Given the description of an element on the screen output the (x, y) to click on. 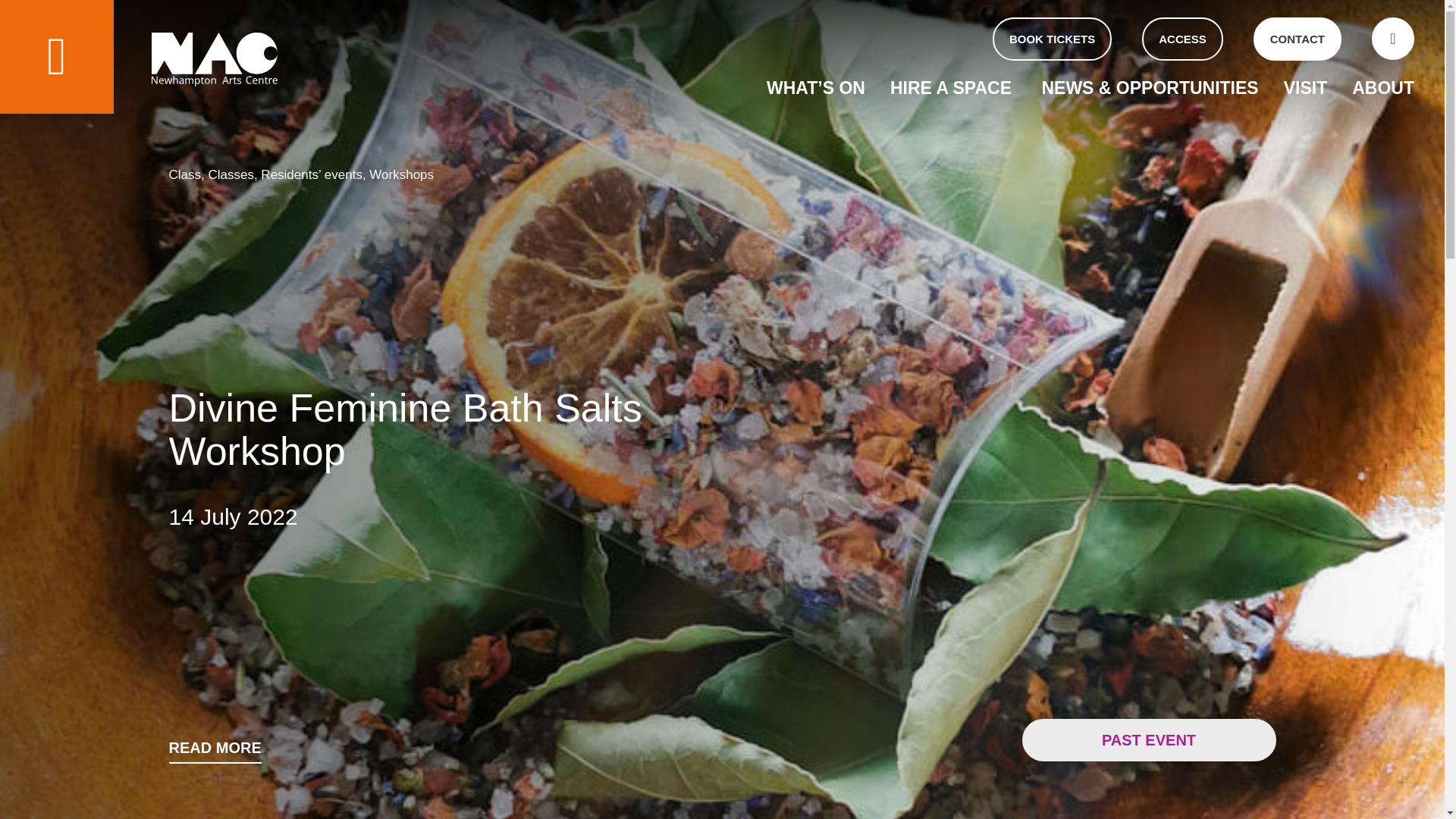
READ MORE (214, 751)
CONTACT (1296, 38)
BOOK TICKETS (1052, 38)
ACCESS (1182, 38)
